Given the description of an element on the screen output the (x, y) to click on. 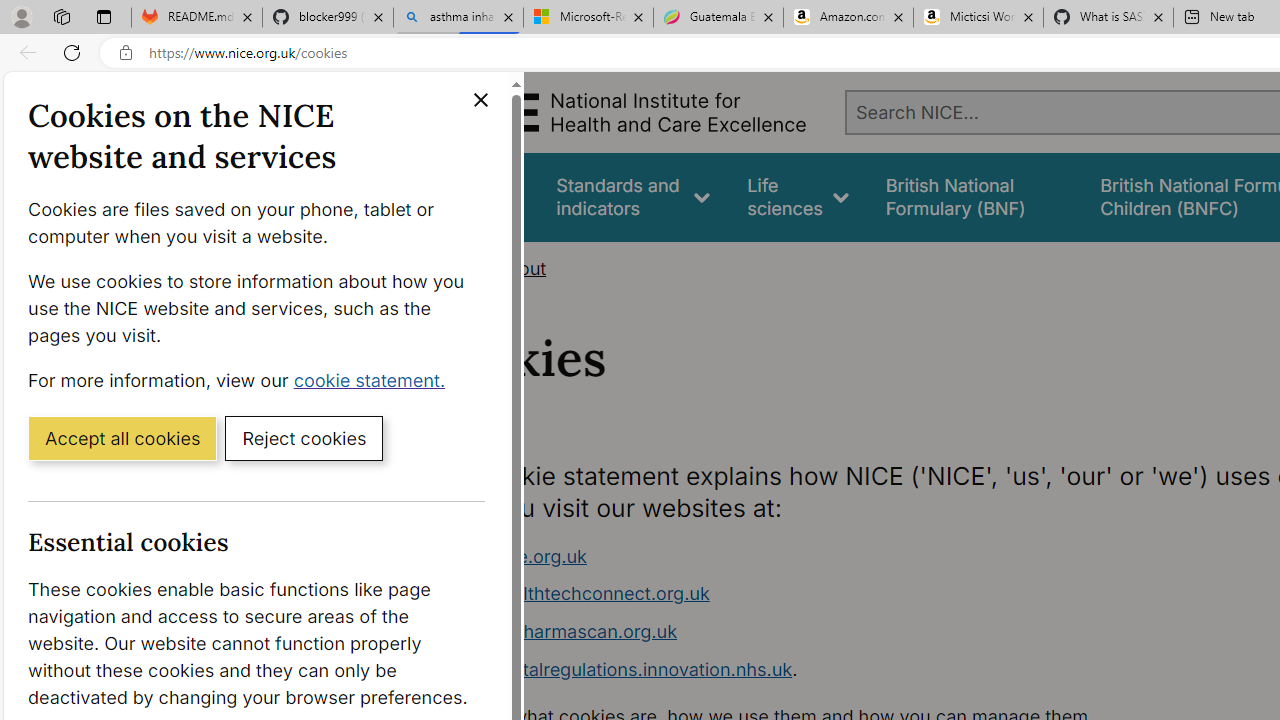
About (520, 268)
www.digitalregulations.innovation.nhs.uk. (818, 669)
About (520, 268)
www.nice.org.uk (818, 556)
www.healthtechconnect.org.uk (576, 593)
Tab actions menu (104, 16)
cookie statement. (Opens in a new window) (373, 379)
Life sciences (798, 196)
asthma inhaler - Search (458, 17)
Refresh (72, 52)
Reject cookies (304, 437)
View site information (125, 53)
